Given the description of an element on the screen output the (x, y) to click on. 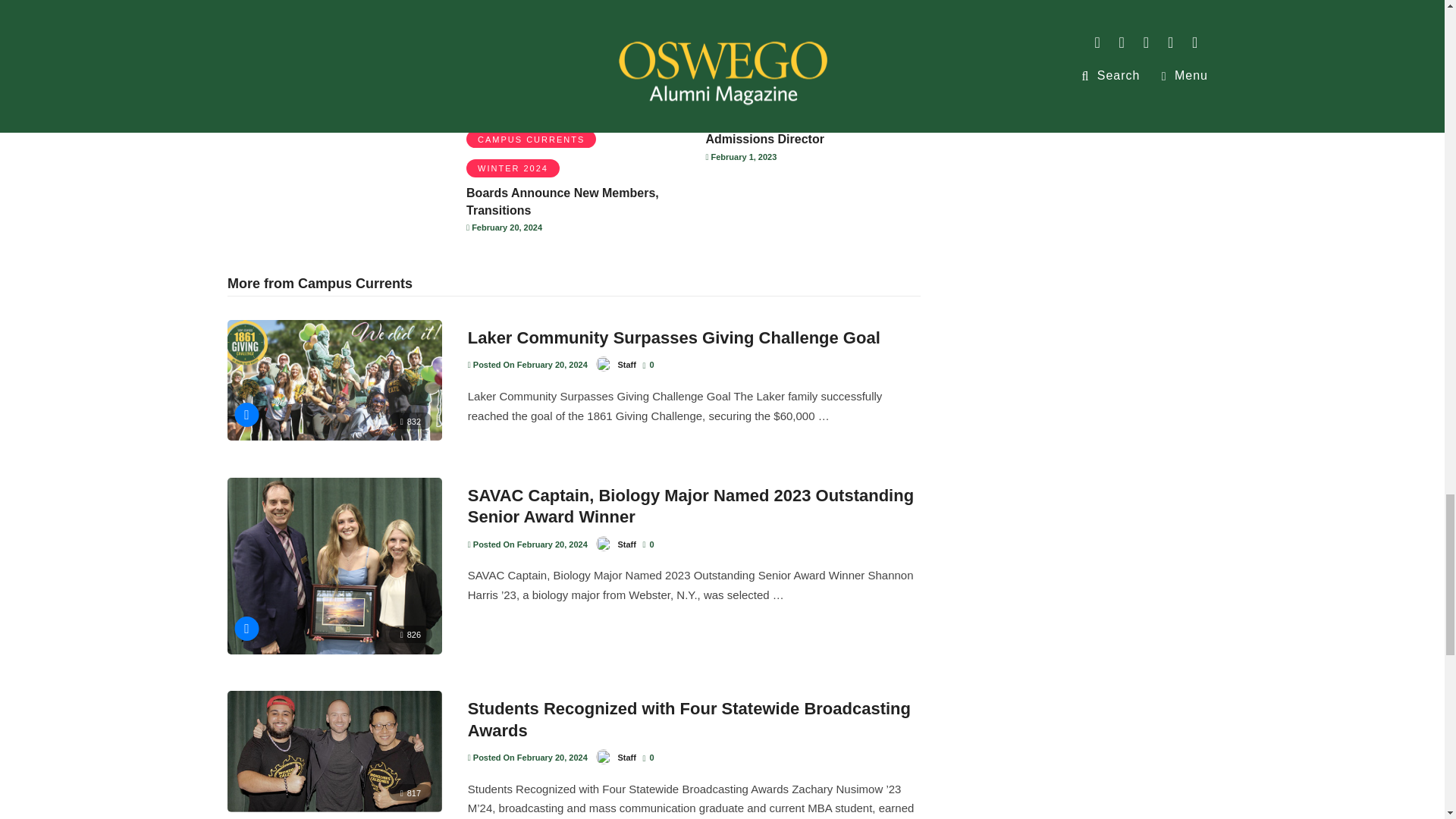
Laker Community Surpasses Giving Challenge Goal (673, 337)
Students Recognized with Four Statewide Broadcasting Awards (689, 719)
New Scholarship Honors Lake Admissions Director (791, 130)
Boards Announce New Members, Transitions (562, 201)
